Given the description of an element on the screen output the (x, y) to click on. 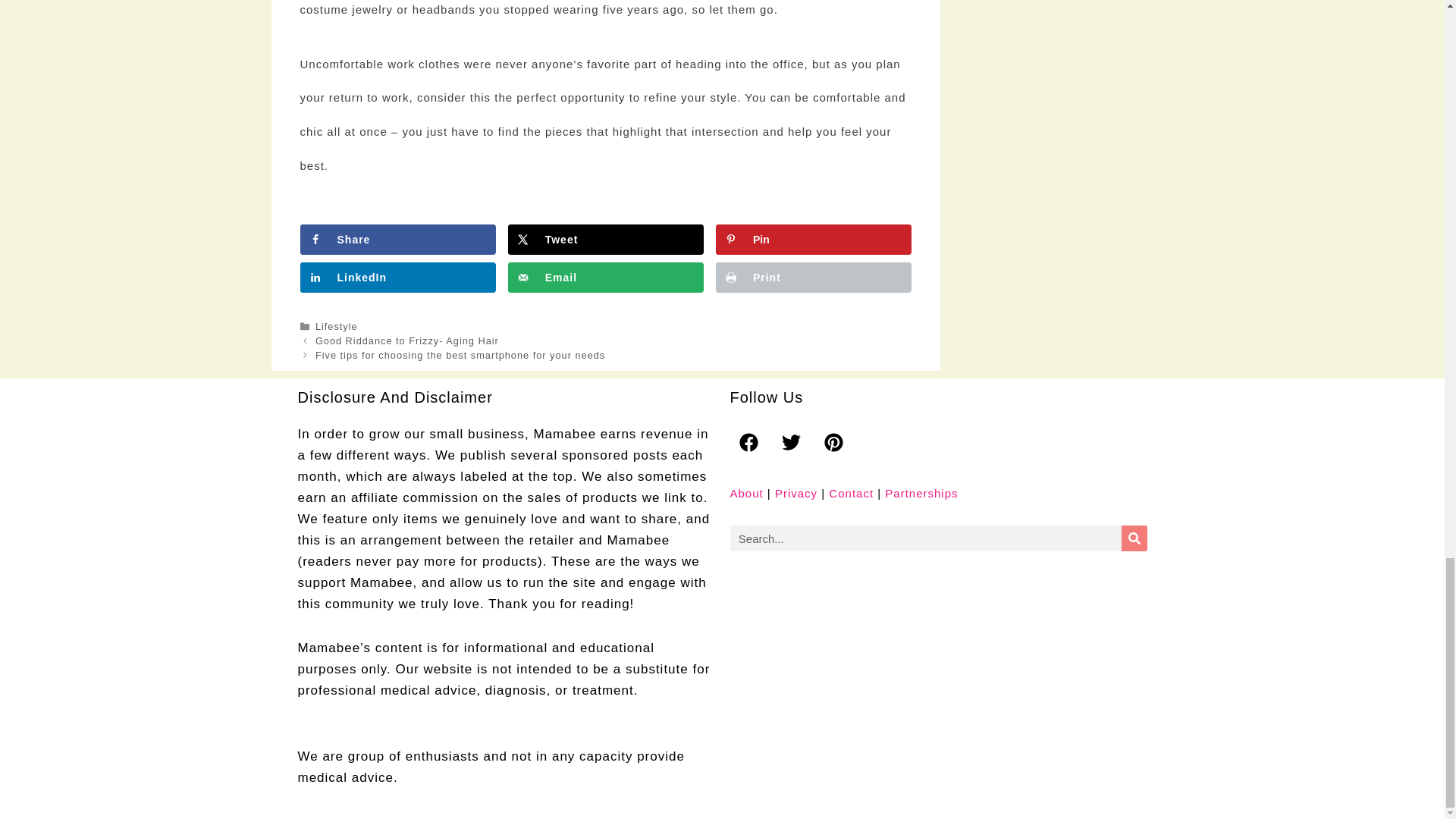
Share on Facebook (397, 239)
Print this webpage (813, 277)
Send over email (605, 277)
Save to Pinterest (813, 239)
Share on LinkedIn (397, 277)
Share on X (605, 239)
